Given the description of an element on the screen output the (x, y) to click on. 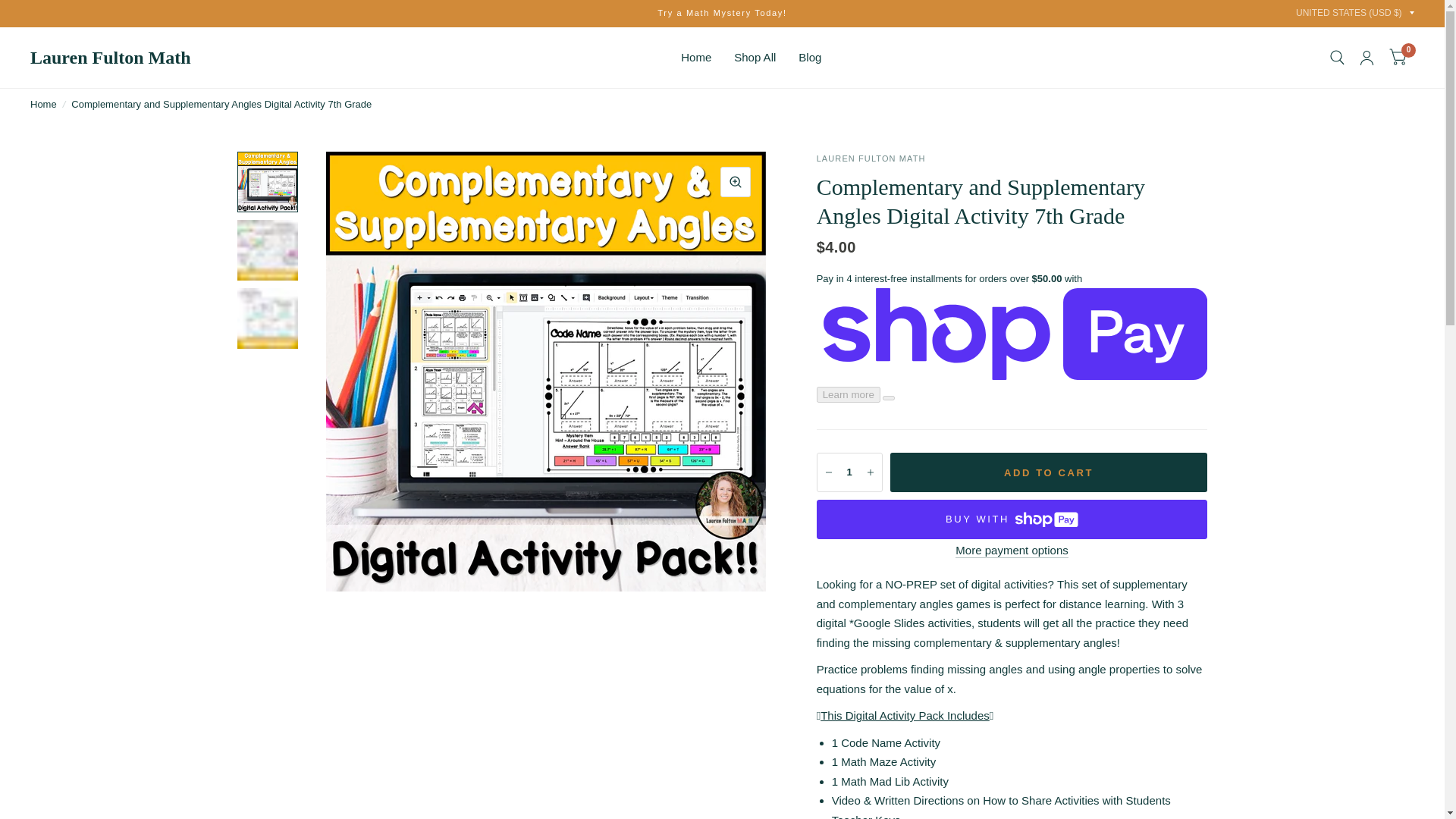
Home (43, 104)
More payment options (1011, 550)
Lauren Fulton Math (110, 57)
Shop All (754, 57)
ADD TO CART (1048, 472)
Shop All (754, 57)
Home (43, 104)
